Given the description of an element on the screen output the (x, y) to click on. 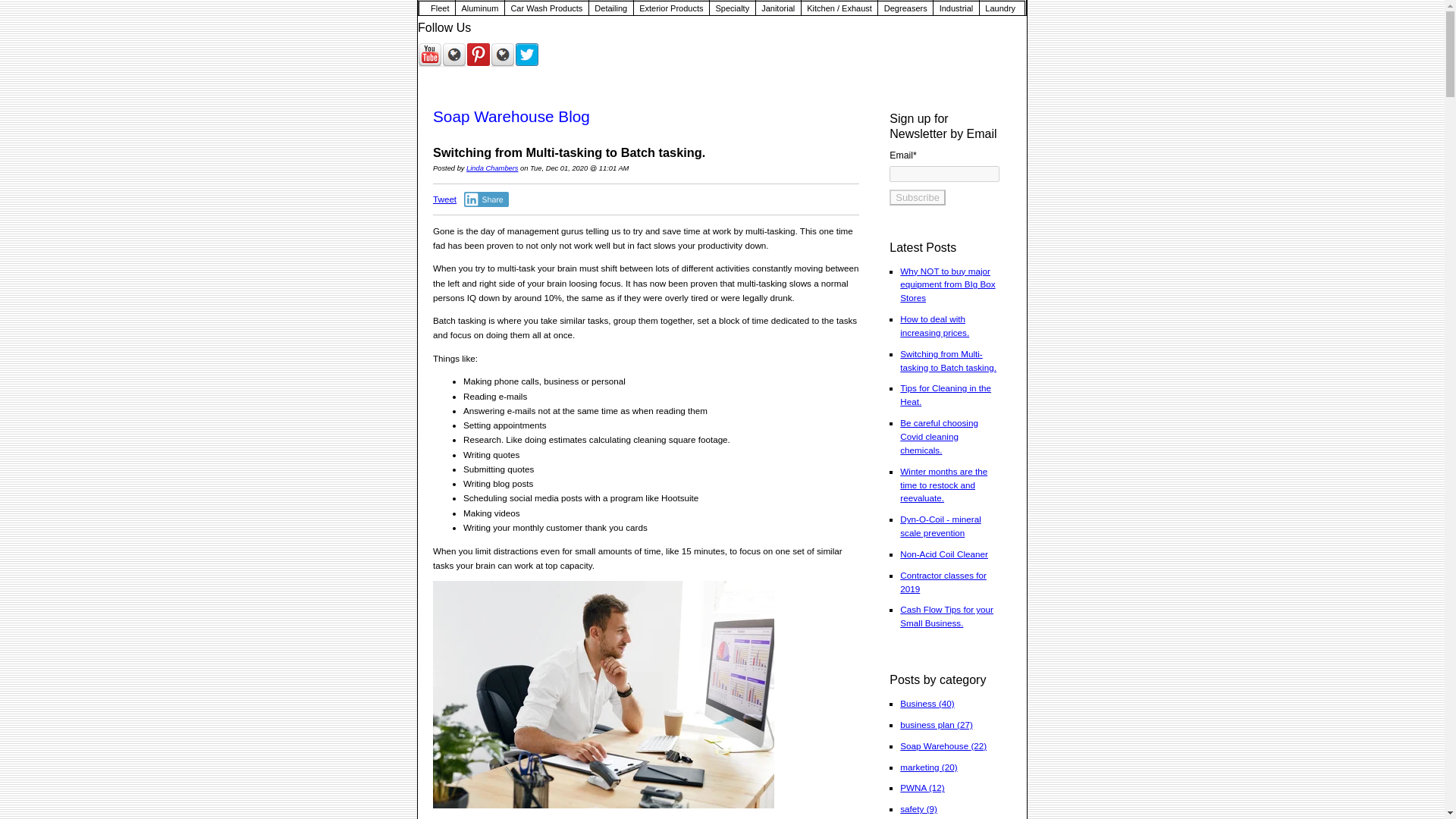
Subscribe (916, 197)
Share (486, 199)
Industrial (955, 7)
Laundry (1000, 7)
Exterior Products (671, 7)
Follow us on Pinterest (477, 55)
Fleet (435, 7)
Detailing (611, 7)
Janitorial (777, 7)
Tweet (444, 198)
Follow us on YouTube (429, 55)
Linda Chambers (491, 167)
Degreasers (905, 7)
Specialty (732, 7)
Car Wash Products (546, 7)
